Given the description of an element on the screen output the (x, y) to click on. 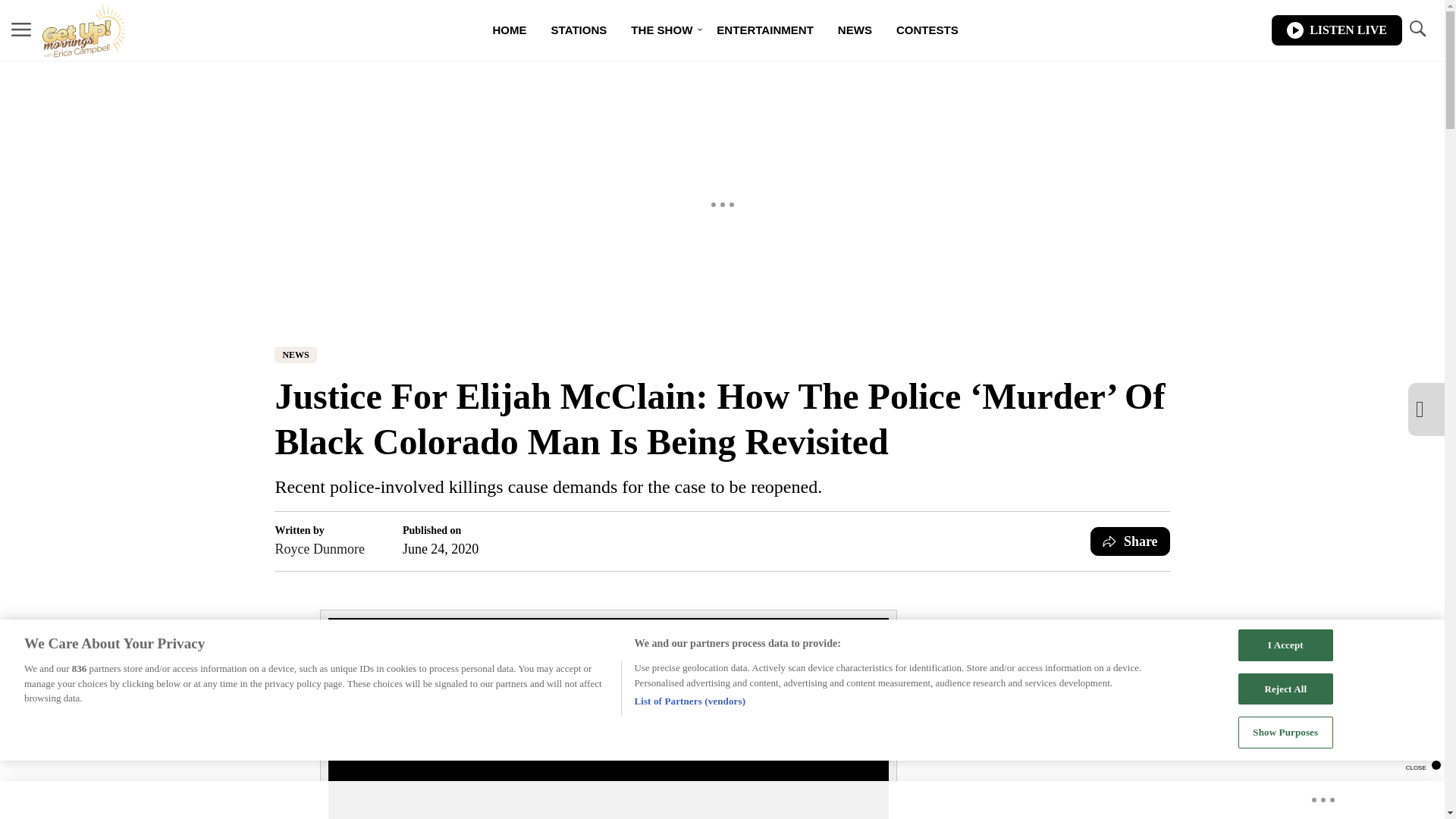
HOME (509, 30)
THE SHOW (661, 30)
STATIONS (579, 30)
ENTERTAINMENT (764, 30)
Share (1130, 541)
MENU (20, 29)
NEWS (854, 30)
NEWS (295, 354)
MENU (20, 30)
TOGGLE SEARCH (1417, 28)
TOGGLE SEARCH (1417, 30)
Royce Dunmore (319, 548)
CONTESTS (927, 30)
LISTEN LIVE (1336, 30)
